Given the description of an element on the screen output the (x, y) to click on. 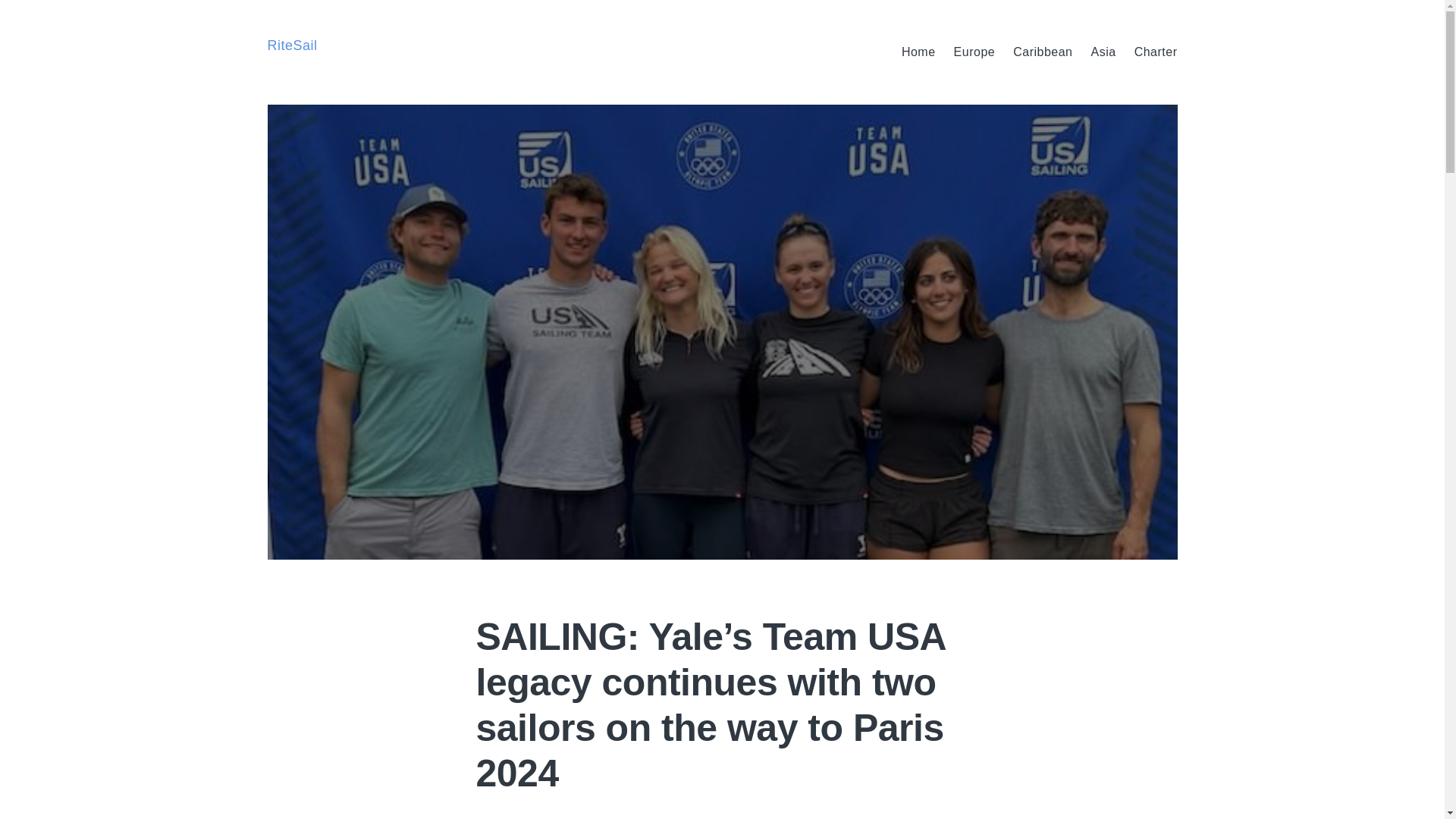
Caribbean (1042, 52)
Asia (1103, 52)
Europe (974, 52)
RiteSail (291, 45)
Home (918, 52)
Charter (1155, 52)
